Given the description of an element on the screen output the (x, y) to click on. 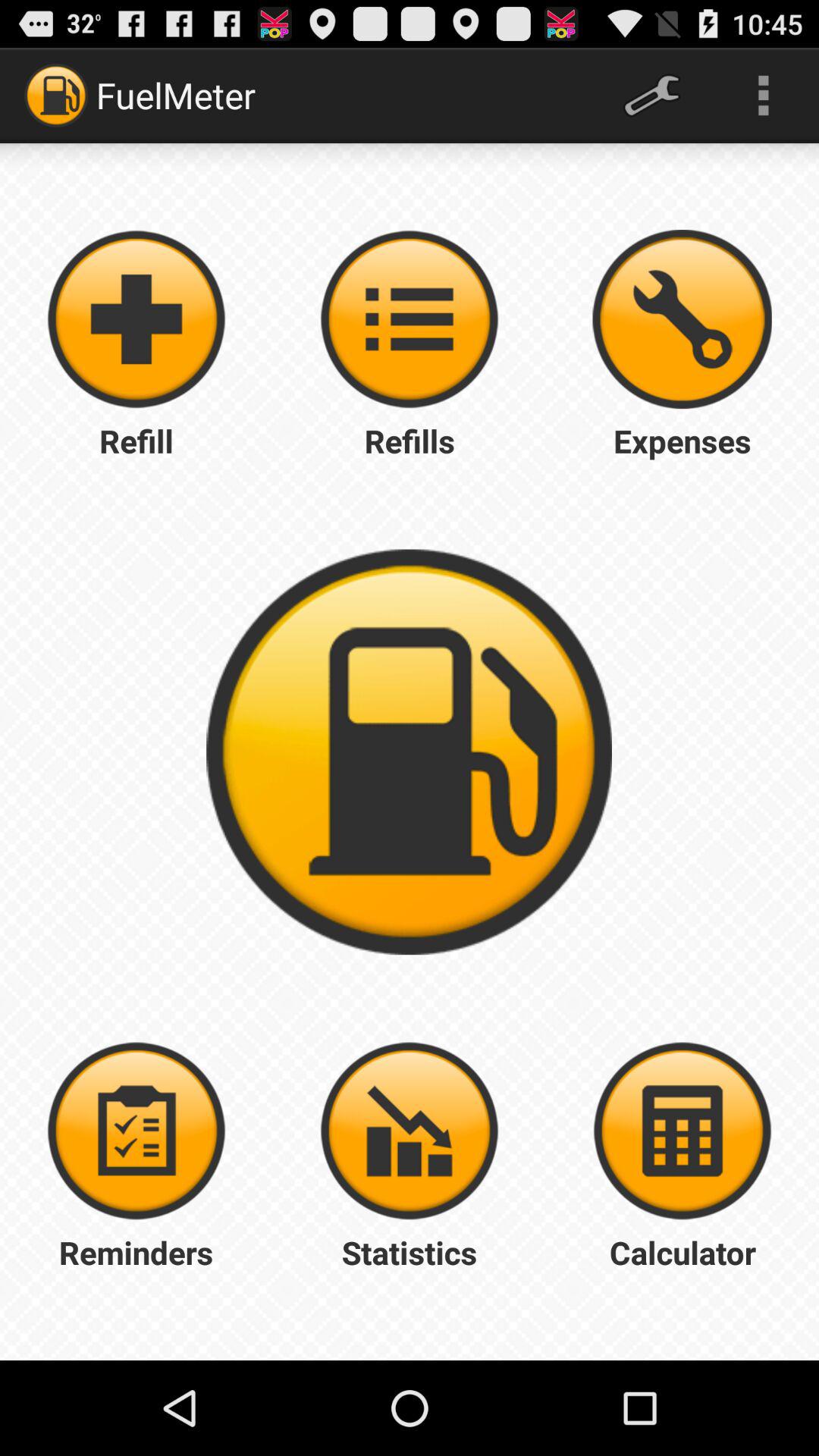
calculate the numbers (682, 1130)
